Given the description of an element on the screen output the (x, y) to click on. 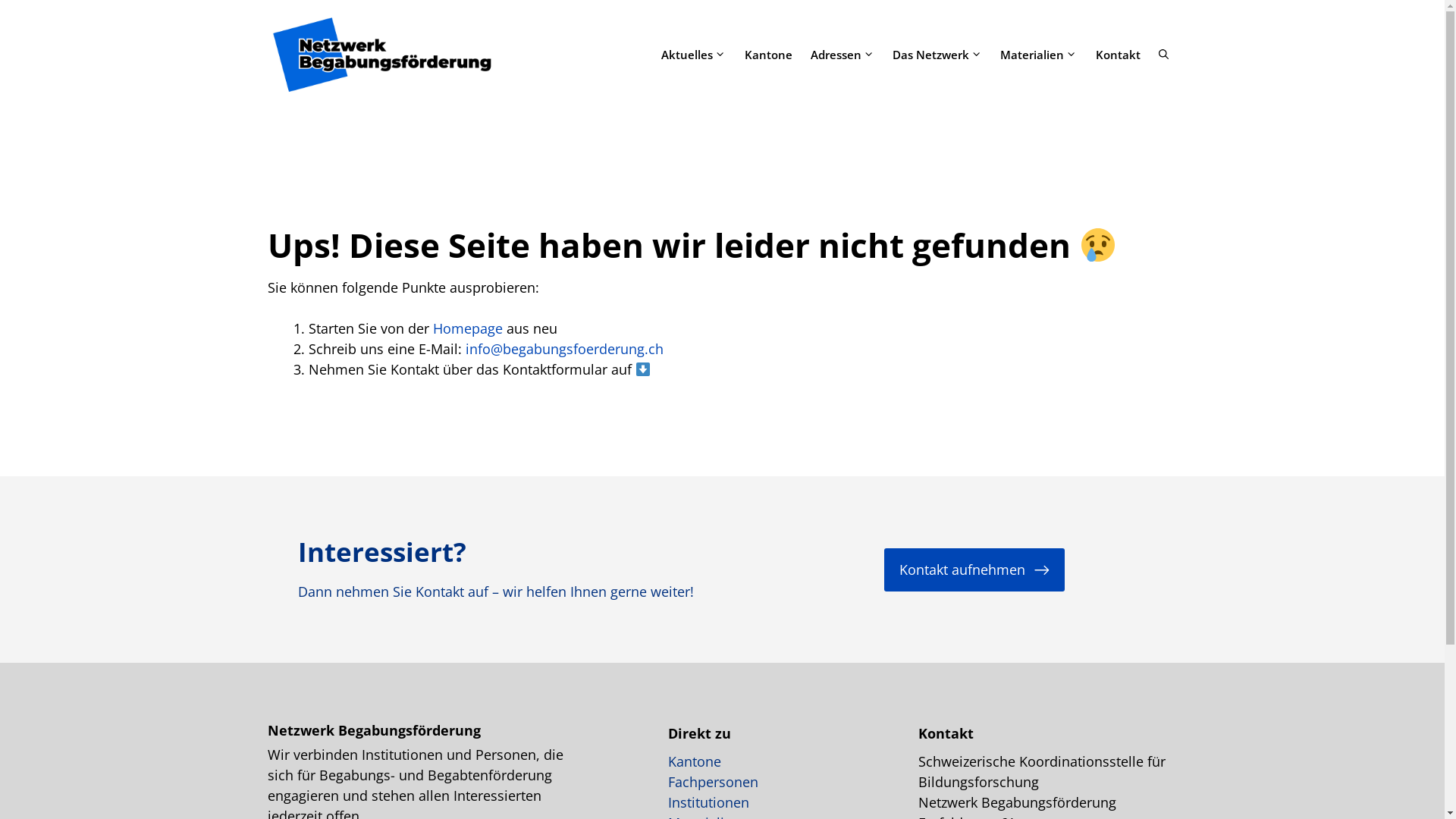
Adressen Element type: text (842, 54)
Kantone Element type: text (693, 761)
Fachpersonen Element type: text (712, 781)
Materialien Element type: text (1038, 54)
Kontakt Element type: text (1116, 54)
Aktuelles Element type: text (693, 54)
Kantone Element type: text (768, 54)
info@begabungsfoerderung.ch Element type: text (564, 348)
Homepage Element type: text (467, 328)
Kontakt aufnehmen Element type: text (974, 569)
Institutionen Element type: text (707, 802)
Das Netzwerk Element type: text (937, 54)
